Given the description of an element on the screen output the (x, y) to click on. 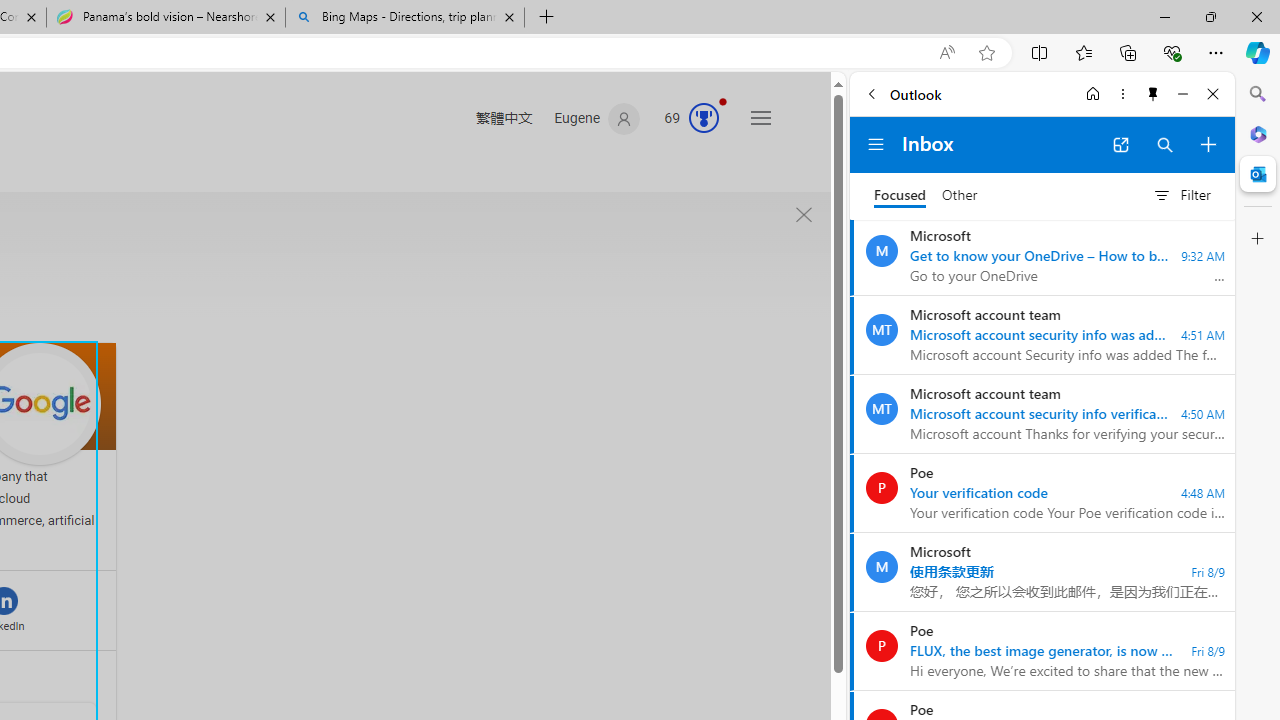
Focused (900, 195)
Other (959, 195)
Filter (1181, 195)
